Given the description of an element on the screen output the (x, y) to click on. 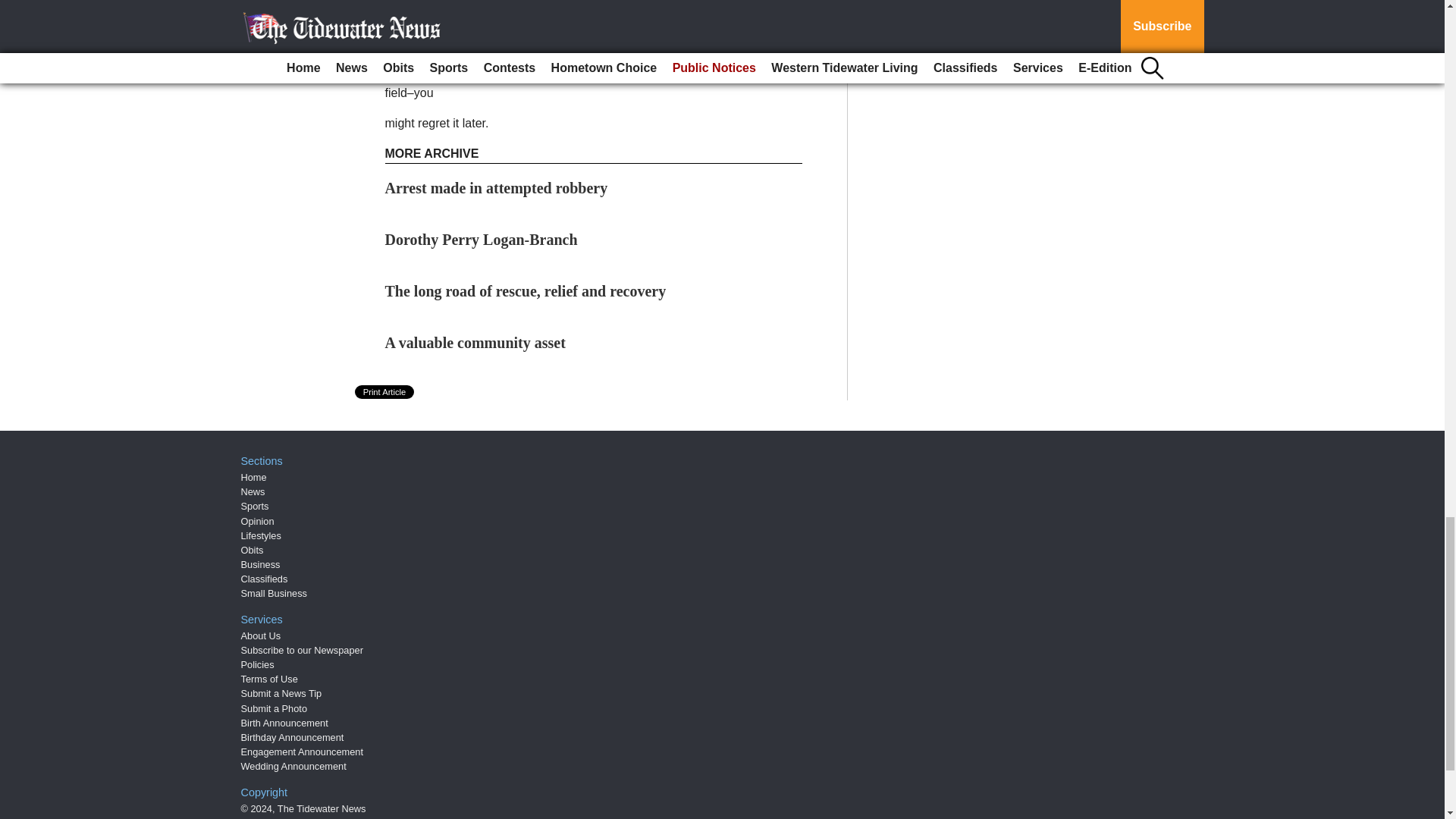
The long road of rescue, relief and recovery (525, 290)
A valuable community asset (475, 342)
A valuable community asset (475, 342)
Print Article (384, 391)
Arrest made in attempted robbery (496, 187)
Arrest made in attempted robbery (496, 187)
Dorothy Perry Logan-Branch (481, 239)
The long road of rescue, relief and recovery (525, 290)
Dorothy Perry Logan-Branch (481, 239)
